Given the description of an element on the screen output the (x, y) to click on. 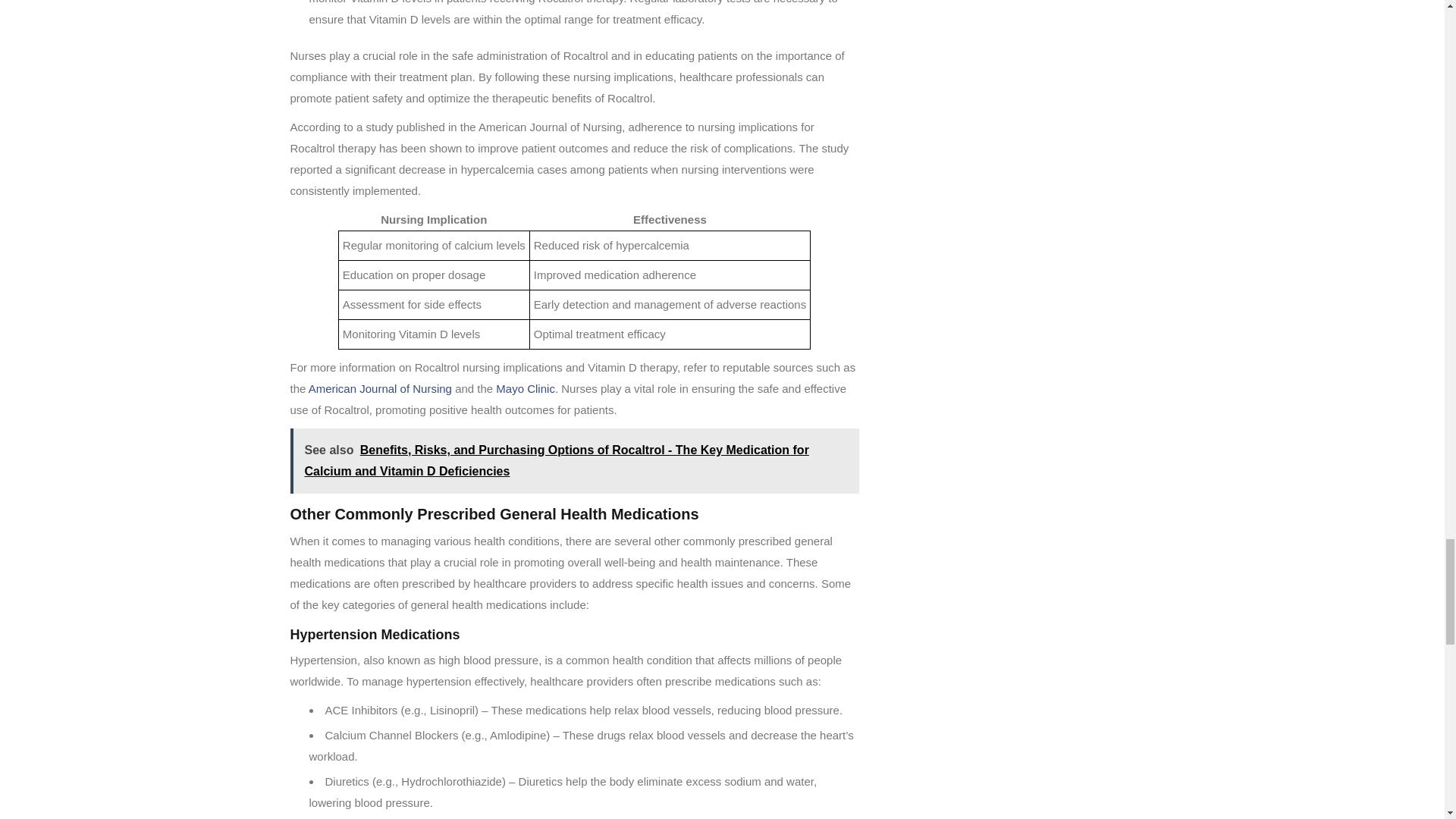
American Journal of Nursing (379, 388)
Mayo Clinic (525, 388)
